Given the description of an element on the screen output the (x, y) to click on. 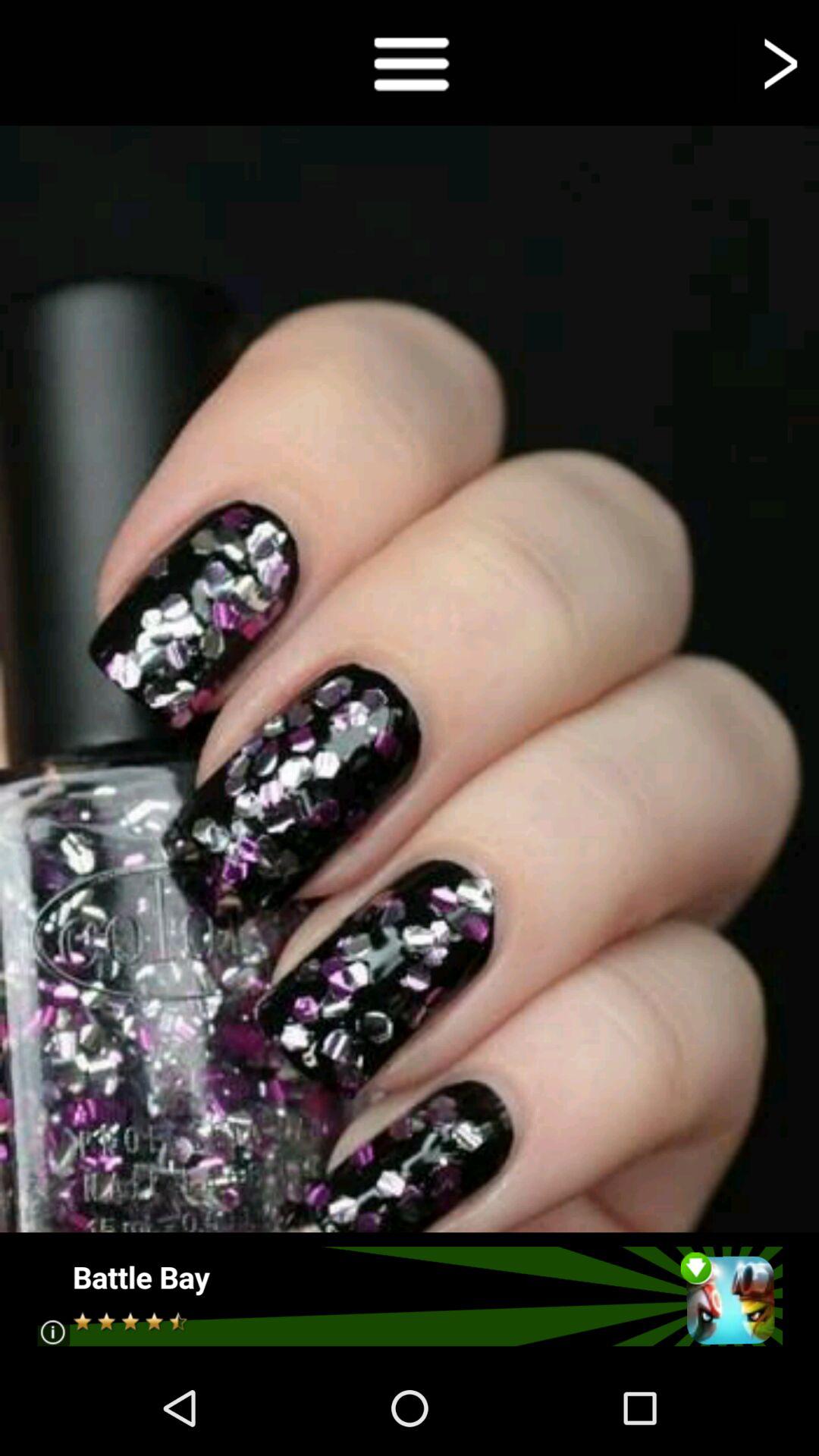
go forward (778, 62)
